Given the description of an element on the screen output the (x, y) to click on. 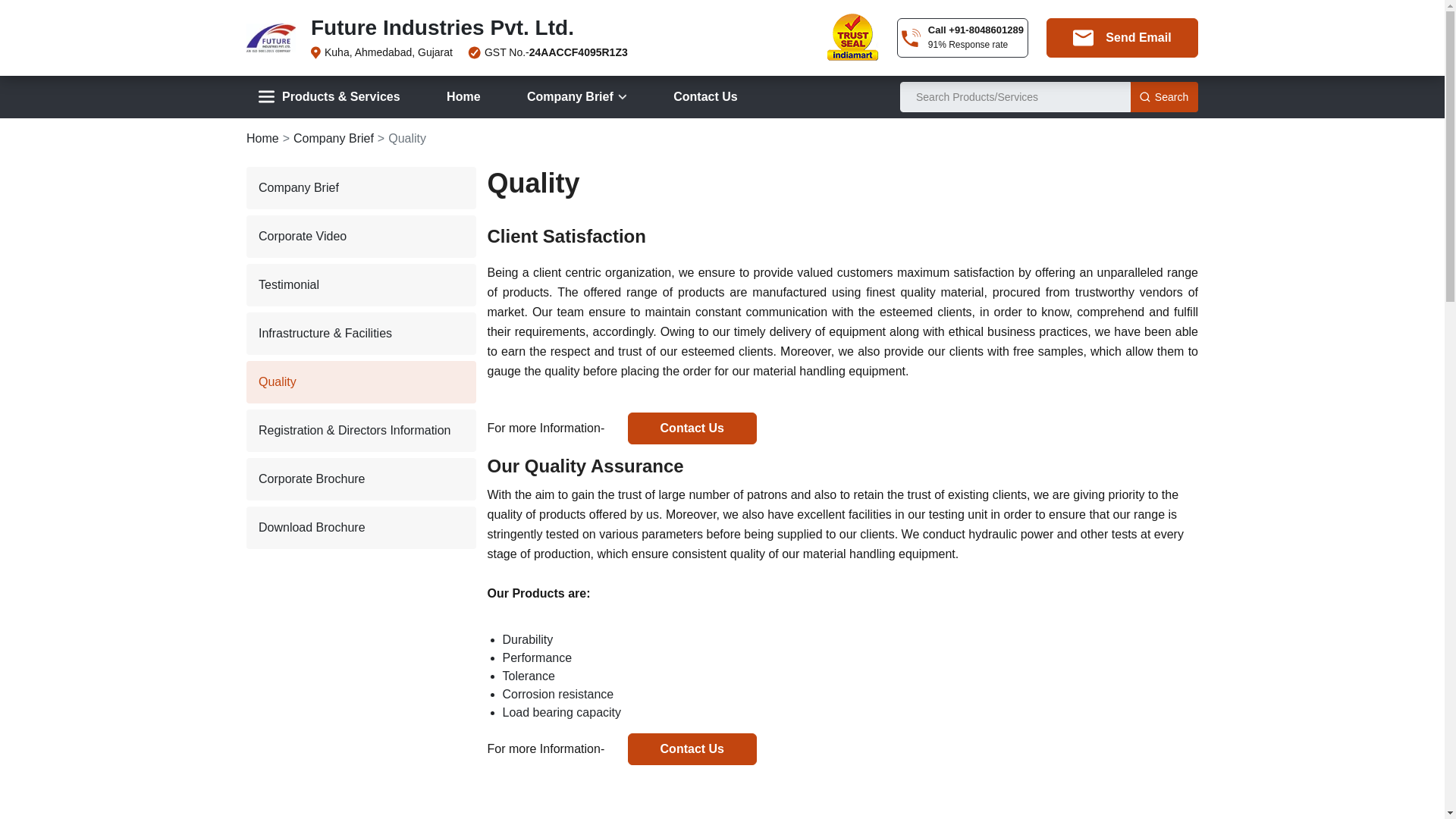
Send Email (1122, 37)
Company Brief (577, 96)
Home (462, 96)
